Given the description of an element on the screen output the (x, y) to click on. 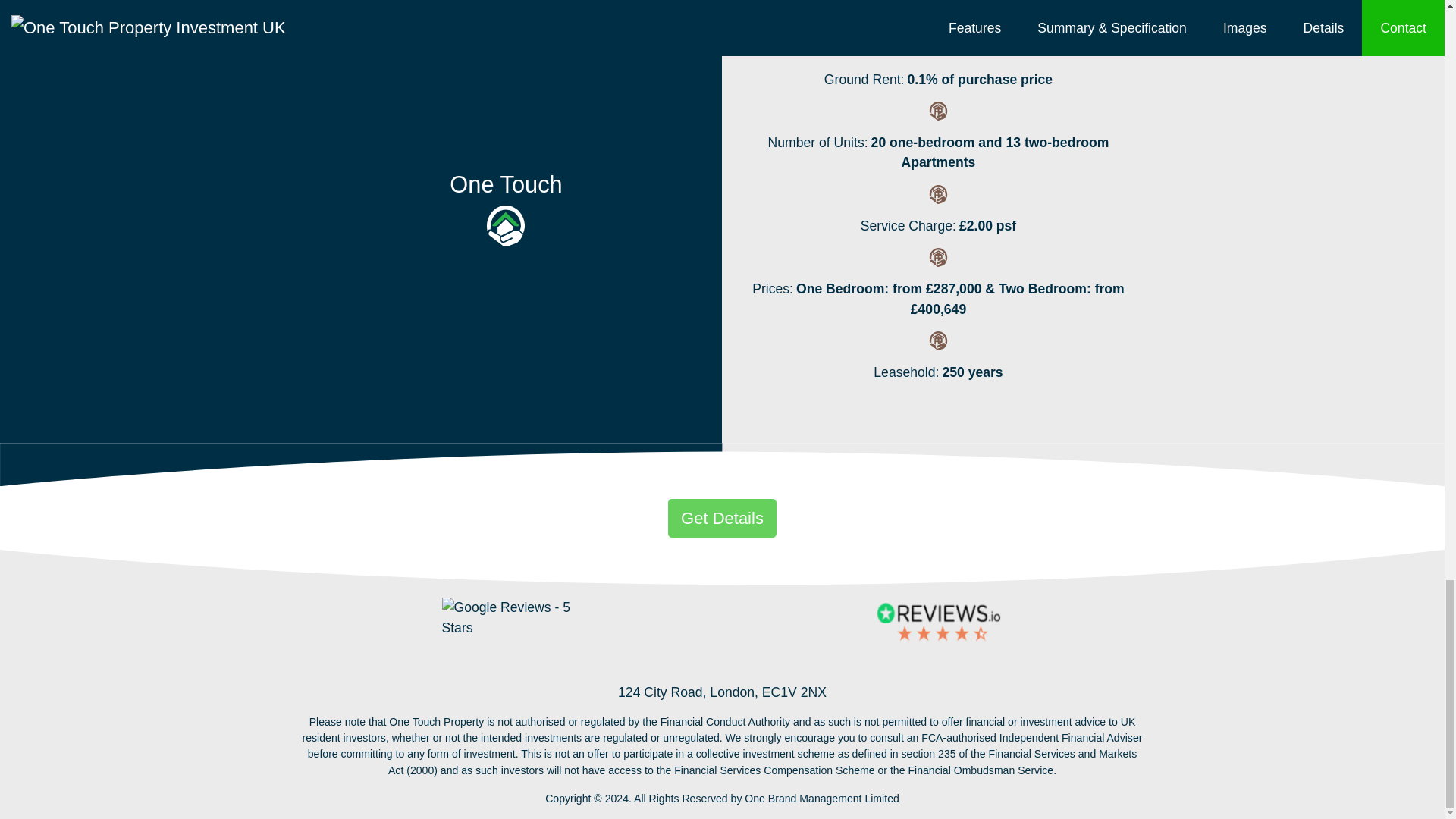
Get Details (722, 517)
